Given the description of an element on the screen output the (x, y) to click on. 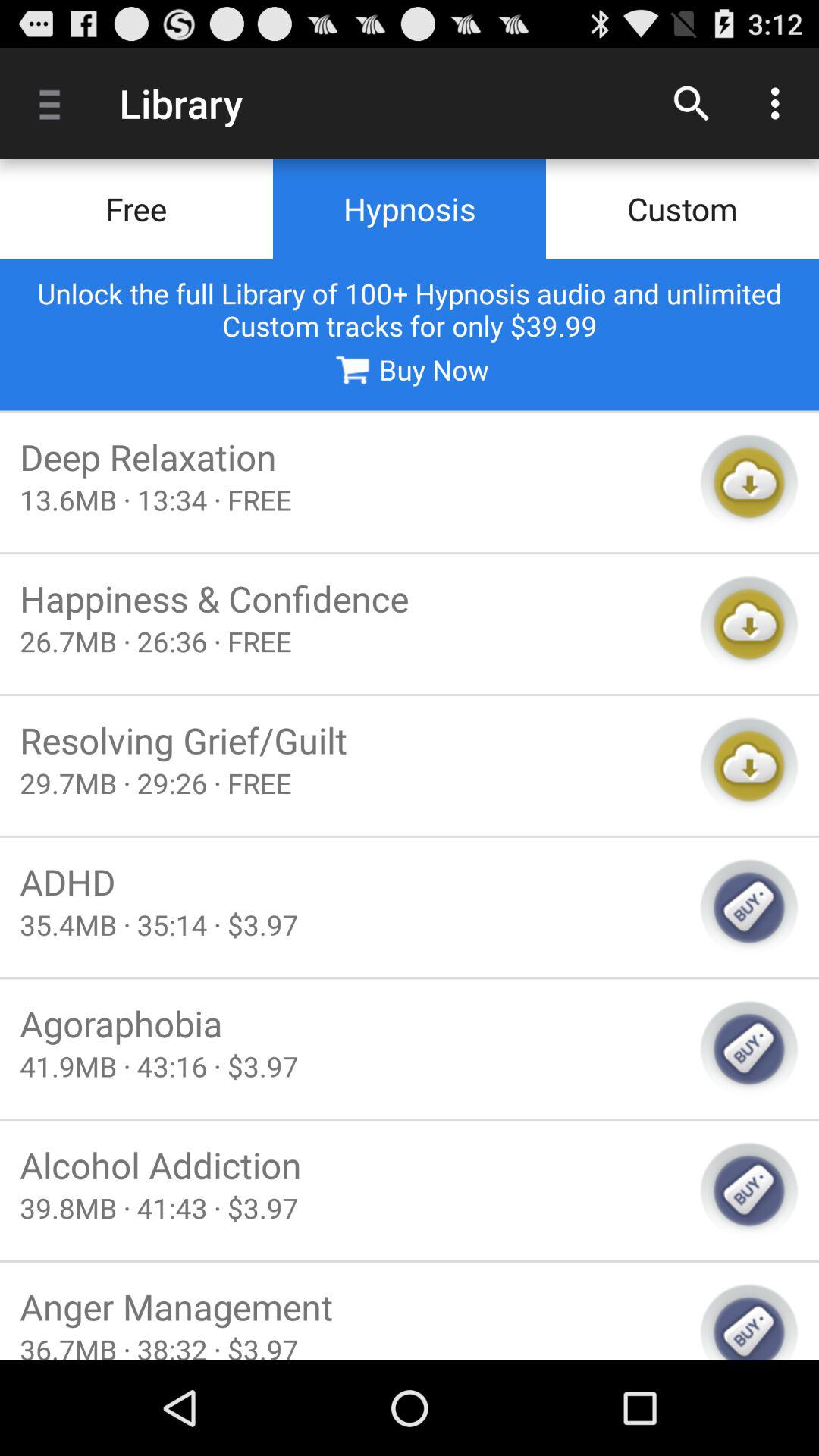
buy track (749, 907)
